Given the description of an element on the screen output the (x, y) to click on. 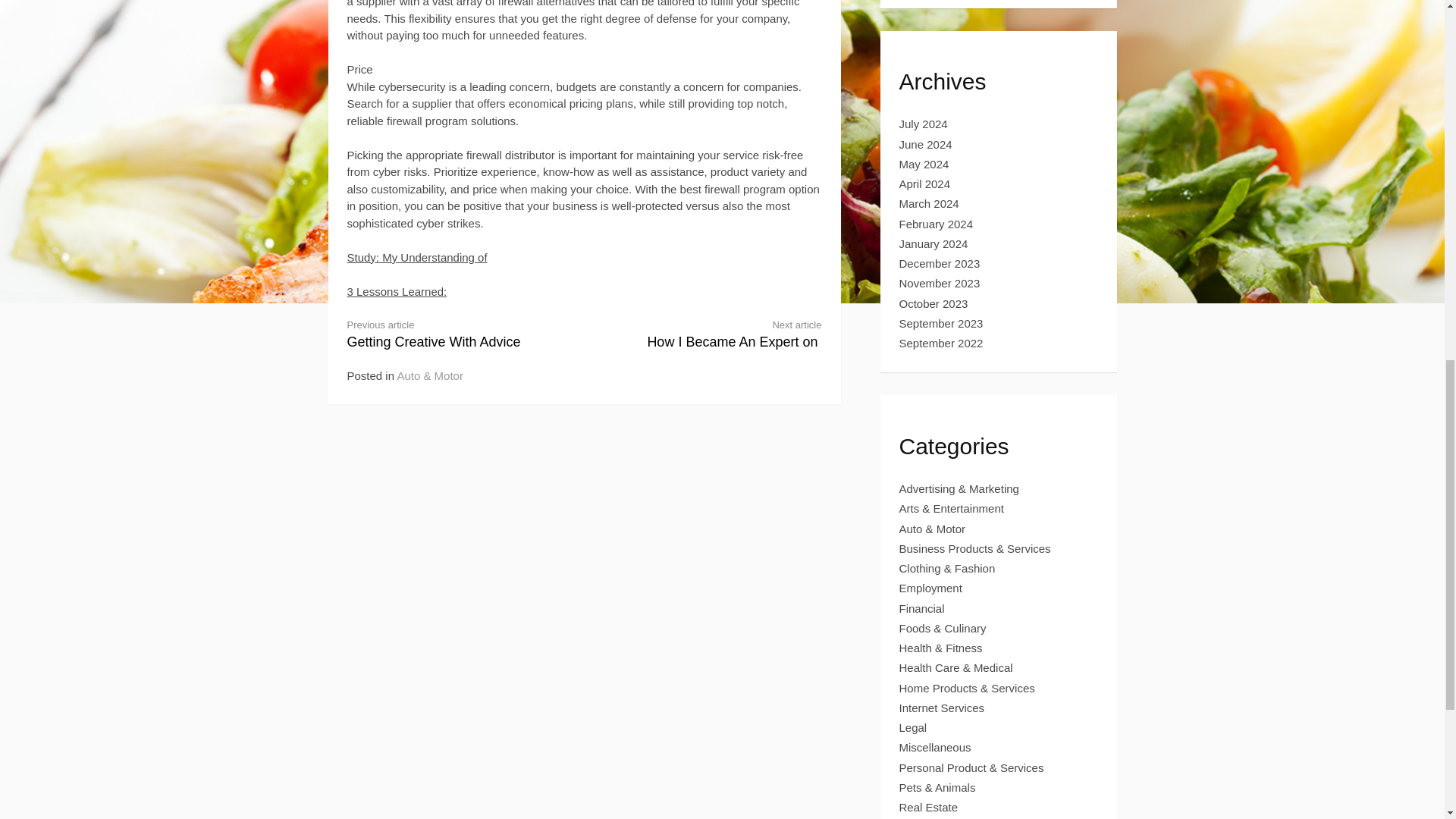
October 2023 (933, 303)
June 2024 (715, 333)
Study: My Understanding of (925, 144)
July 2024 (417, 256)
3 Lessons Learned: (923, 123)
February 2024 (396, 291)
September 2022 (936, 223)
May 2024 (941, 342)
March 2024 (924, 164)
April 2024 (453, 333)
November 2023 (929, 203)
December 2023 (924, 183)
September 2023 (939, 282)
